Given the description of an element on the screen output the (x, y) to click on. 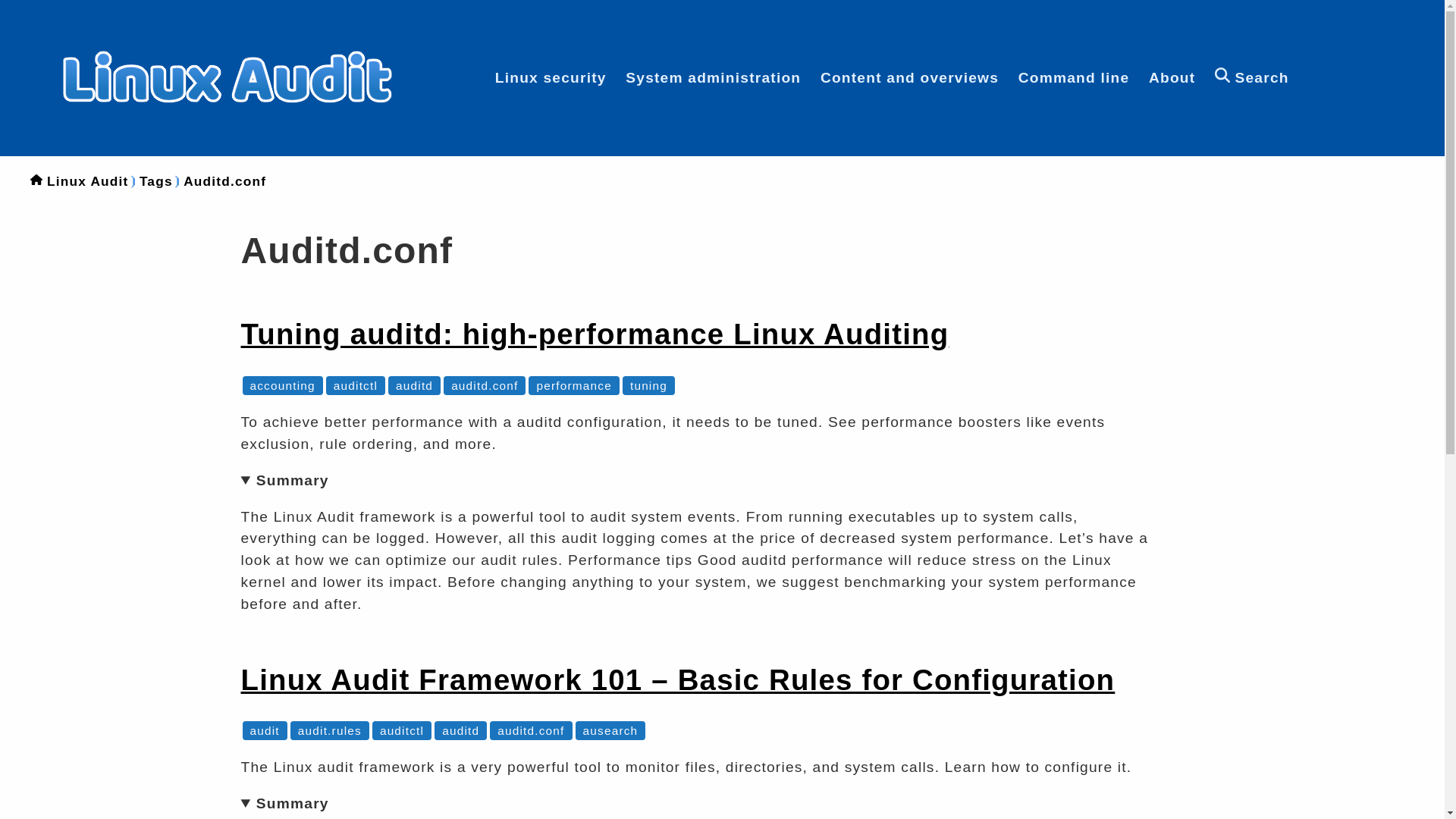
Tags (156, 181)
performance (573, 385)
Command line (1073, 77)
Content and overviews (909, 77)
Search (1251, 77)
Linux Audit (87, 181)
Tuning auditd: high-performance Linux Auditing (595, 333)
tuning (648, 385)
auditd.conf (484, 385)
auditctl (355, 385)
About (1171, 77)
Linux security (549, 77)
Auditd.conf (224, 181)
accounting (282, 385)
System administration (712, 77)
